Given the description of an element on the screen output the (x, y) to click on. 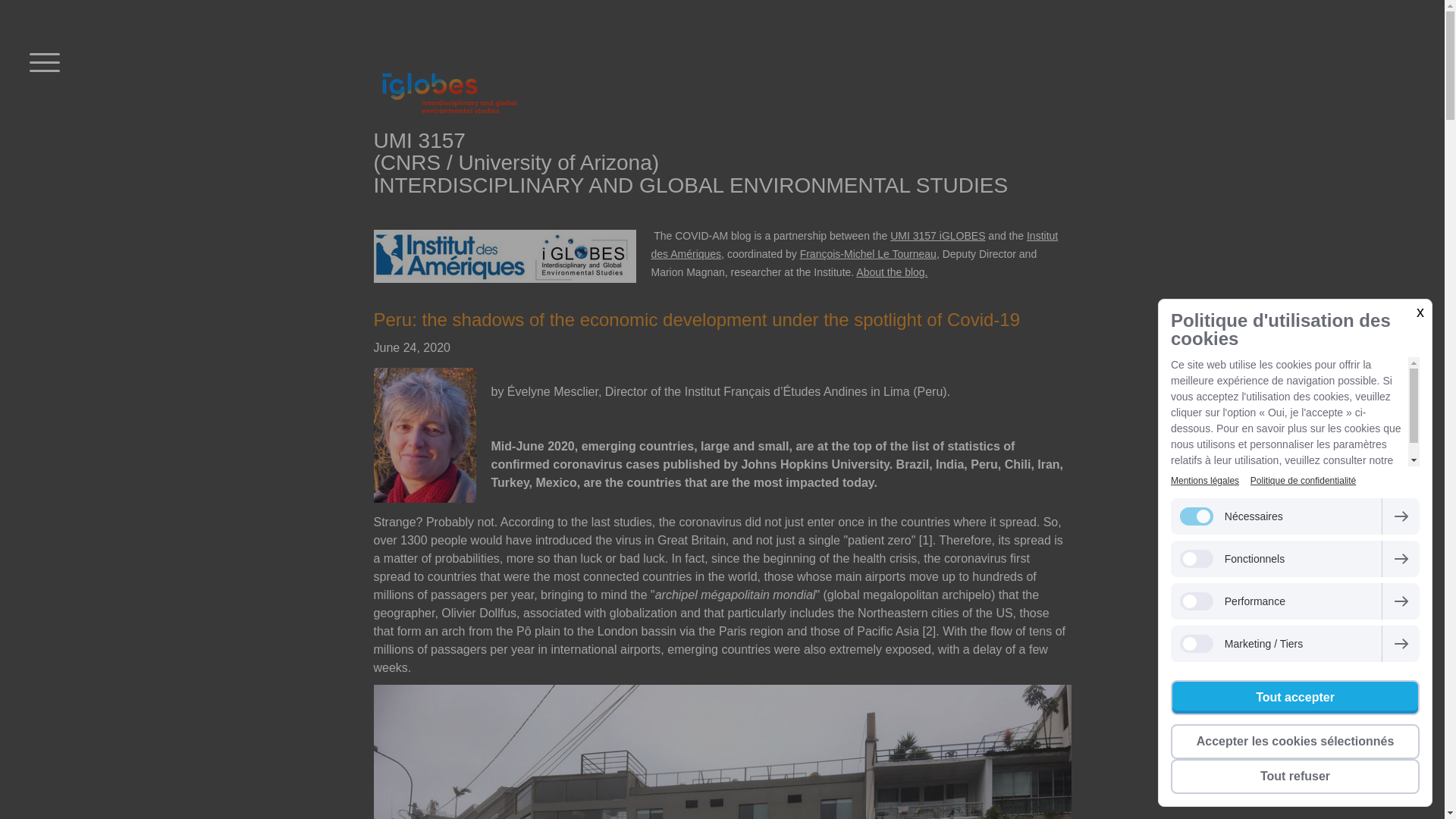
Who we are (937, 235)
About Blog (891, 272)
